Given the description of an element on the screen output the (x, y) to click on. 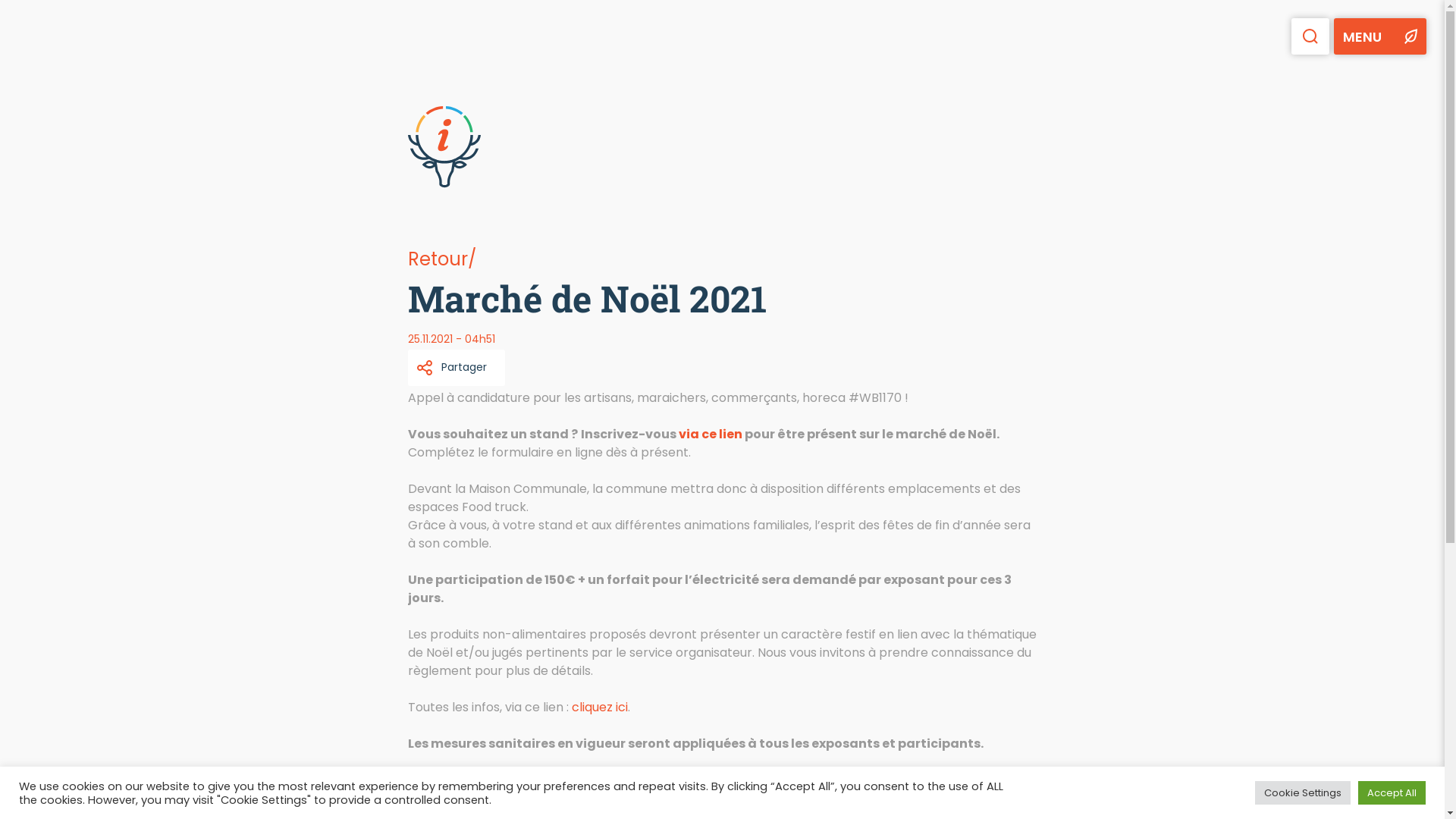
Retour/ Element type: text (441, 259)
Cookie Settings Element type: text (1302, 792)
Accept All Element type: text (1391, 792)
via ce lien Element type: text (709, 433)
cliquez ici Element type: text (599, 706)
Partager Element type: text (456, 367)
